Given the description of an element on the screen output the (x, y) to click on. 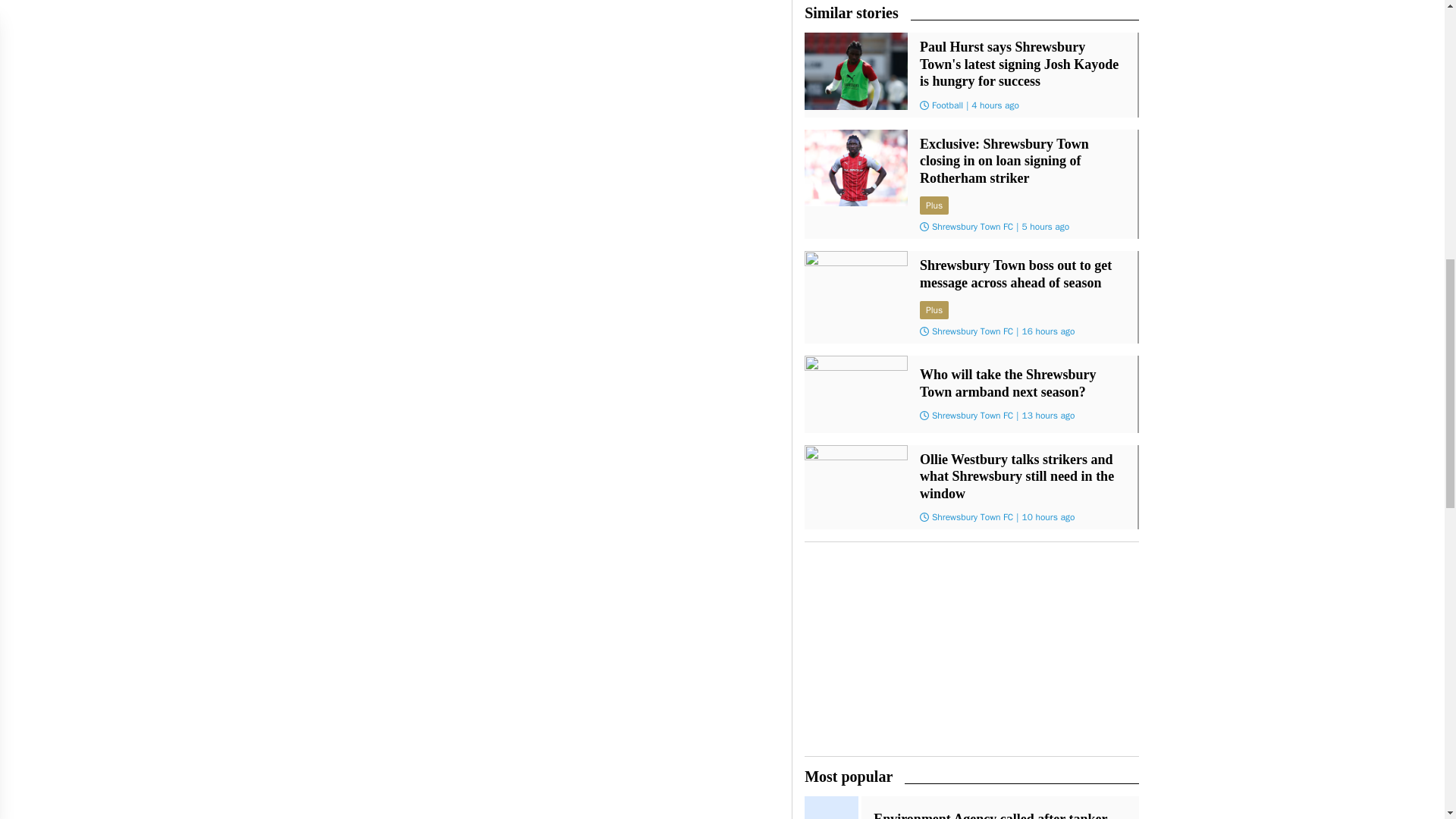
Shrewsbury Town FC (972, 331)
Shrewsbury Town FC (972, 415)
Football (946, 104)
Shrewsbury Town FC (972, 517)
Shrewsbury Town FC (972, 226)
